Given the description of an element on the screen output the (x, y) to click on. 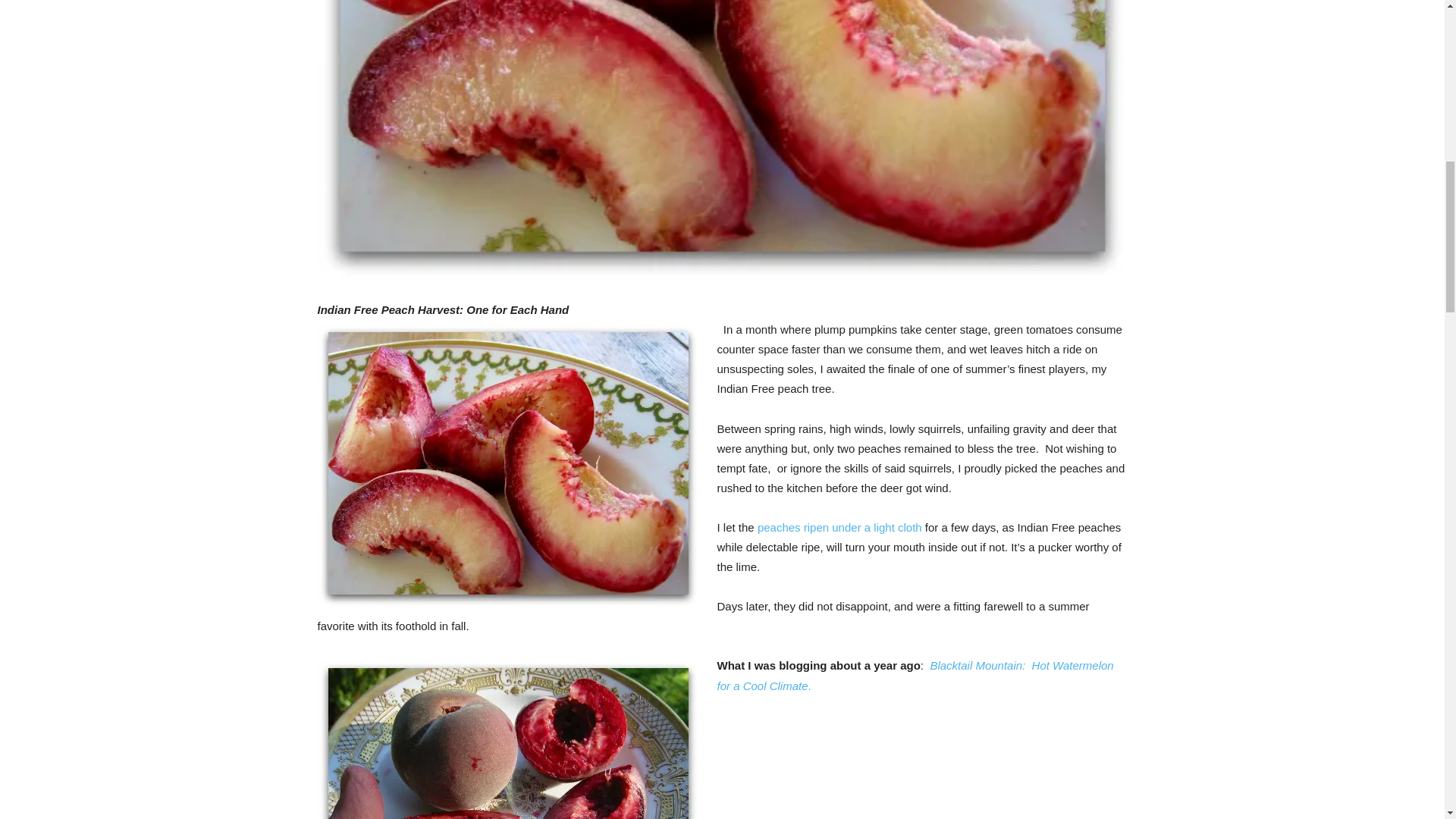
peaches ripen under a light cloth (840, 526)
best way to ripen peaches  (840, 526)
